Given the description of an element on the screen output the (x, y) to click on. 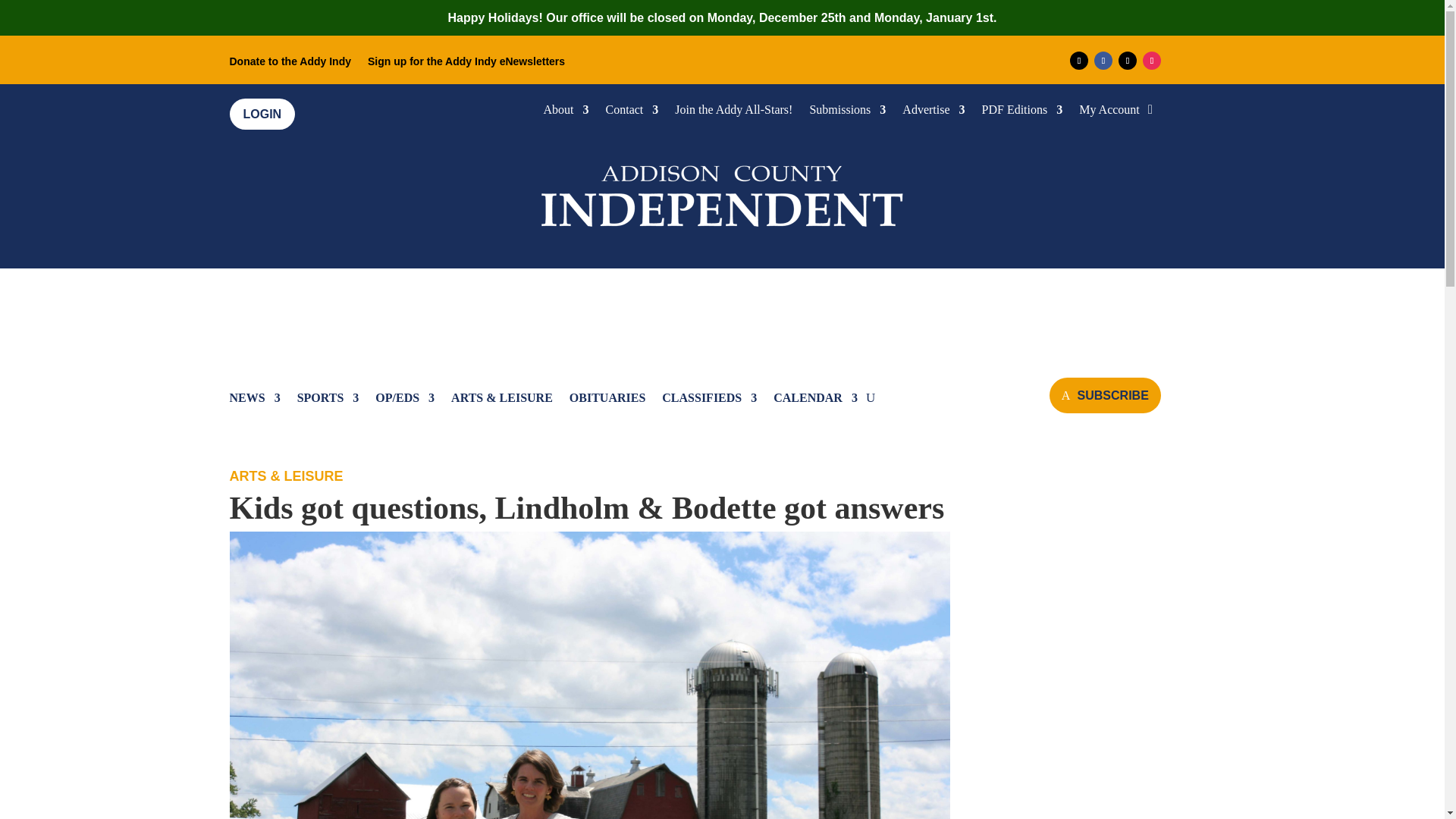
Contact (632, 112)
My Account (1109, 112)
Follow on Instagram (1151, 60)
Advertise (932, 112)
PDF Editions (1021, 112)
LOGIN (261, 113)
Follow on X (1127, 60)
3rd party ad content (722, 314)
Submissions (847, 112)
Sign up for the Addy Indy eNewsletters (466, 64)
Follow on Facebook (1103, 60)
addison-logo (721, 192)
Donate to the Addy Indy (289, 64)
Follow on Mail (1078, 60)
About (566, 112)
